Given the description of an element on the screen output the (x, y) to click on. 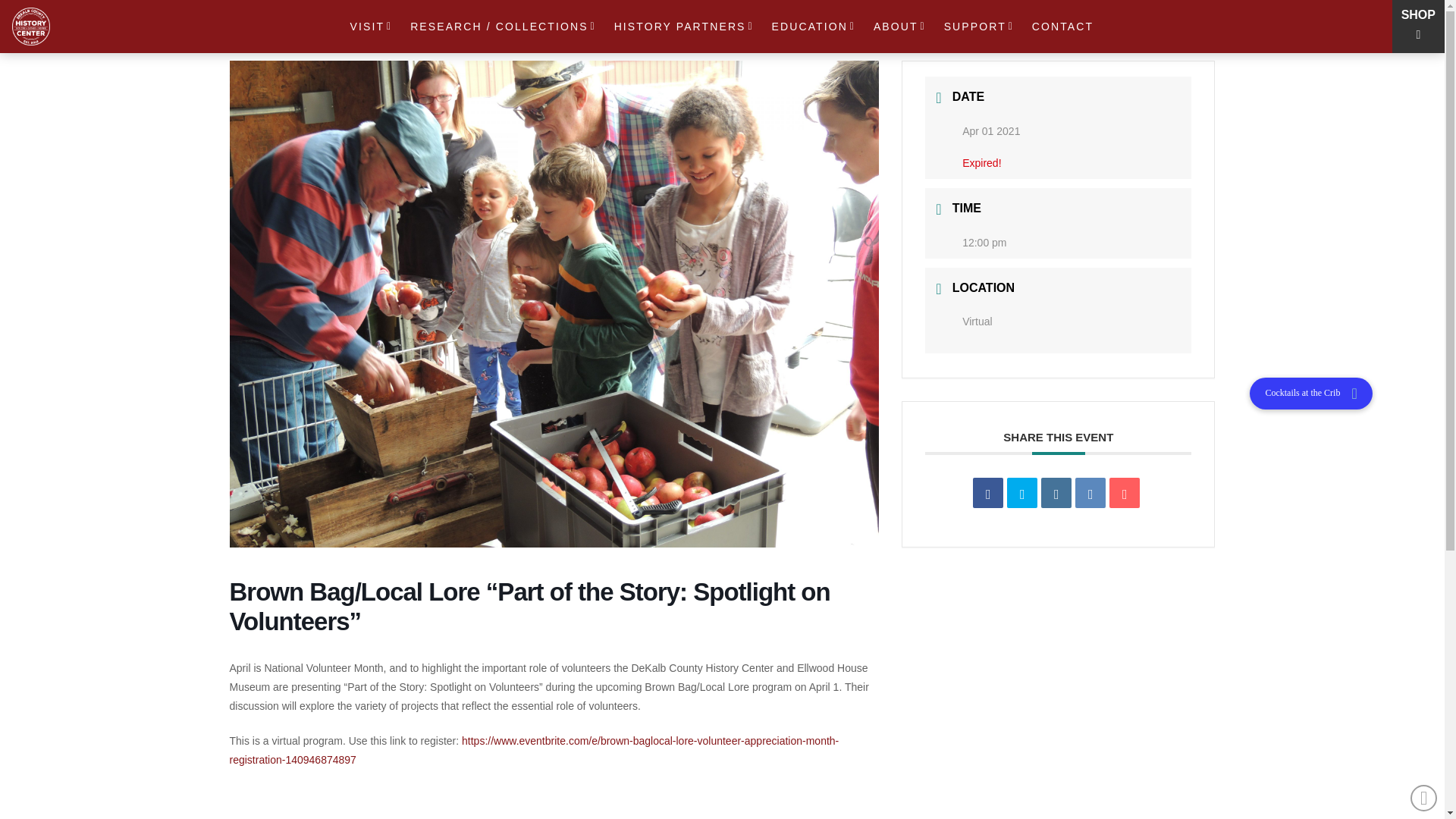
VK (1090, 492)
Tweet (1021, 492)
SHOP (1417, 13)
Back to Top (1423, 797)
VISIT (372, 26)
Share on Facebook (987, 492)
Email (1124, 492)
Linkedin (1056, 492)
ABOUT (900, 26)
EDUCATION (813, 26)
CONTACT (1061, 26)
SUPPORT (979, 26)
HISTORY PARTNERS (683, 26)
